Given the description of an element on the screen output the (x, y) to click on. 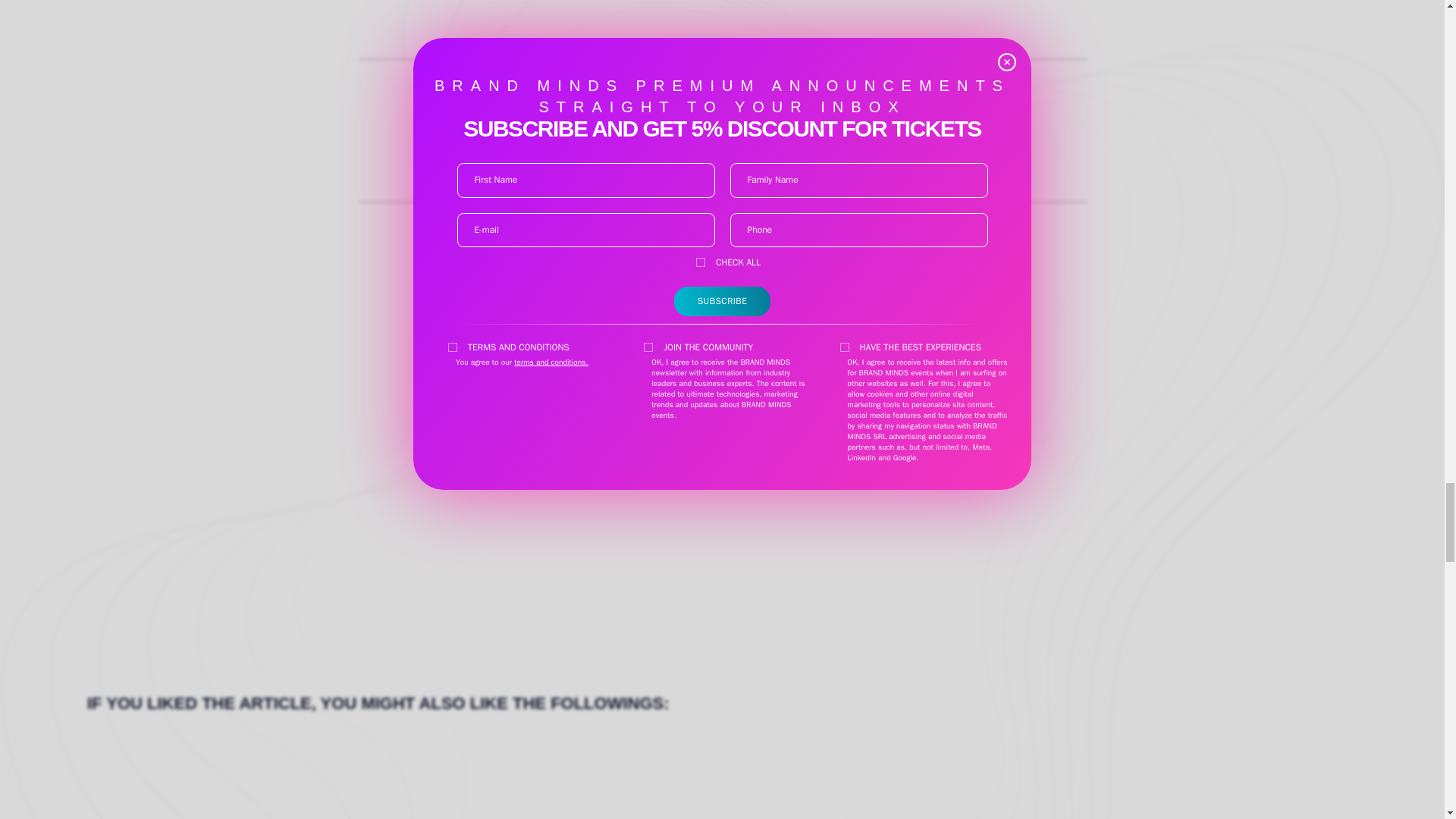
Werner Vogels (721, 129)
